Given the description of an element on the screen output the (x, y) to click on. 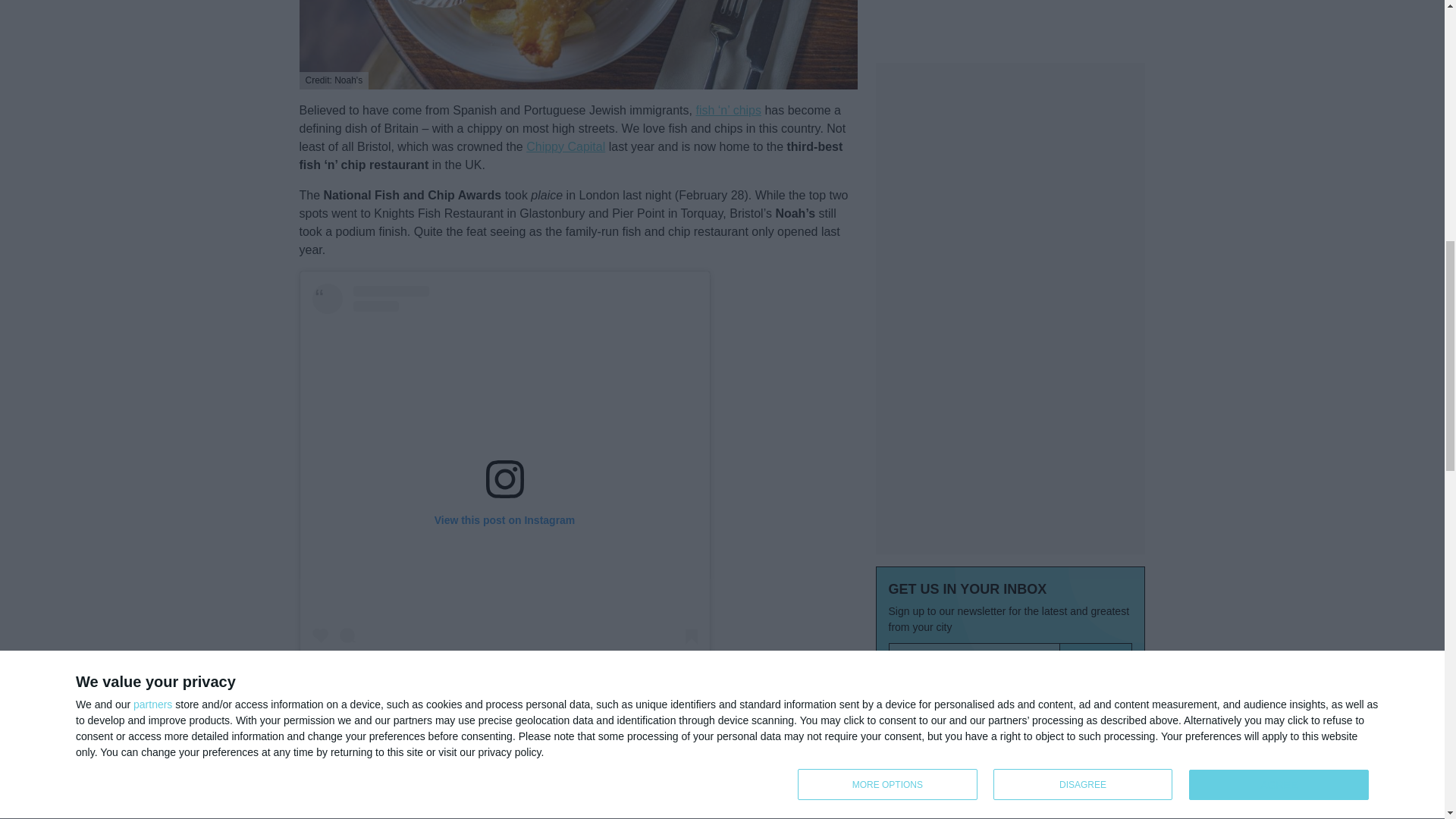
JULY 26, 2024 (904, 640)
Subscribe (1095, 370)
JULY 29, 2024 (904, 542)
JULY 25, 2024 (904, 739)
1 (896, 400)
Subscribe (1095, 370)
Chippy Capital (565, 146)
